Given the description of an element on the screen output the (x, y) to click on. 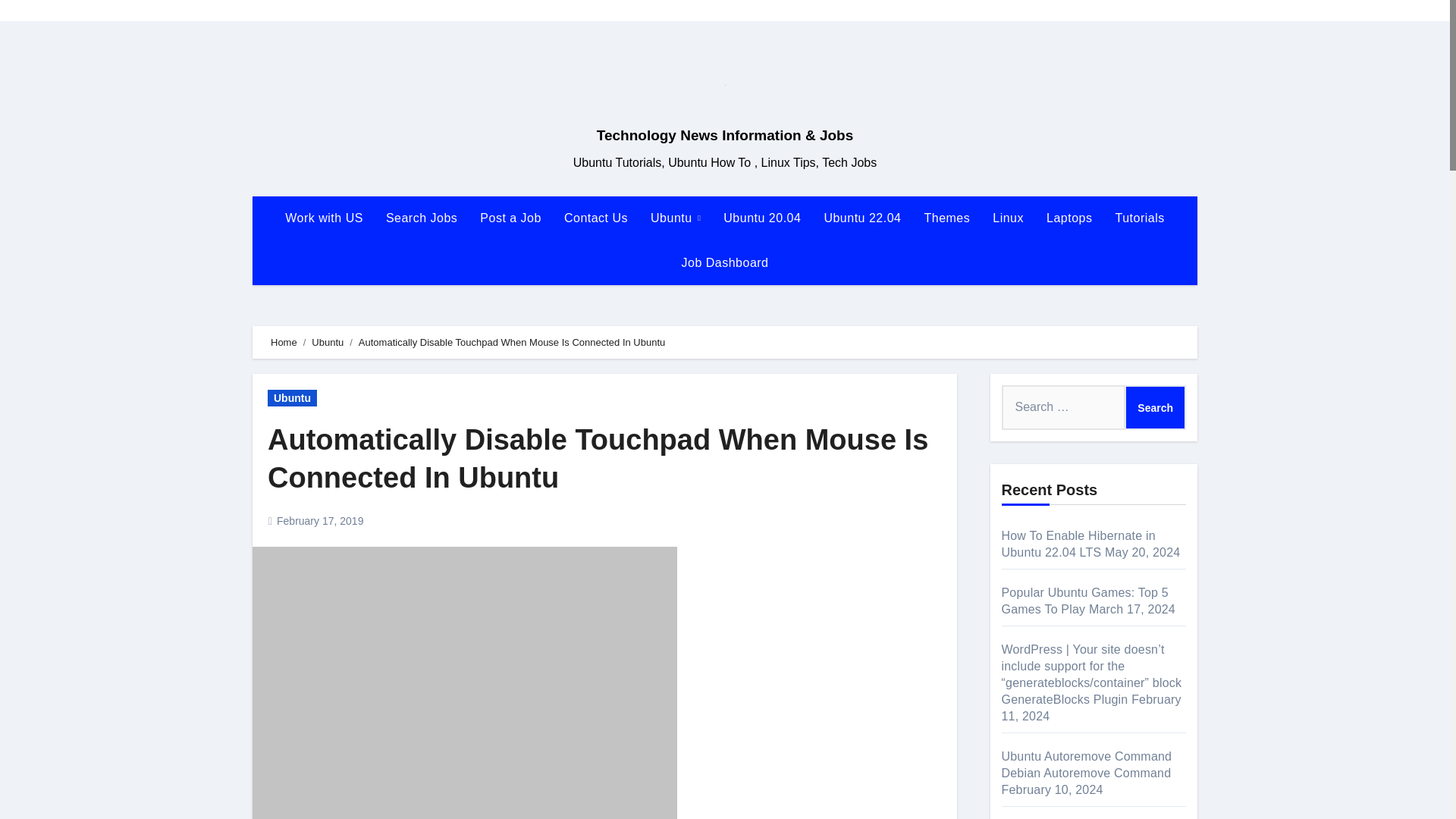
Job Dashboard (723, 262)
Post a Job (510, 218)
Contact Us (596, 218)
Ubuntu (675, 218)
Ubuntu 20.04 (761, 218)
Search Jobs (421, 218)
Laptops (1069, 218)
Ubuntu (292, 397)
Ubuntu 22.04 (862, 218)
Linux (1008, 218)
Work with US (323, 218)
Themes (946, 218)
Ubuntu (675, 218)
